Given the description of an element on the screen output the (x, y) to click on. 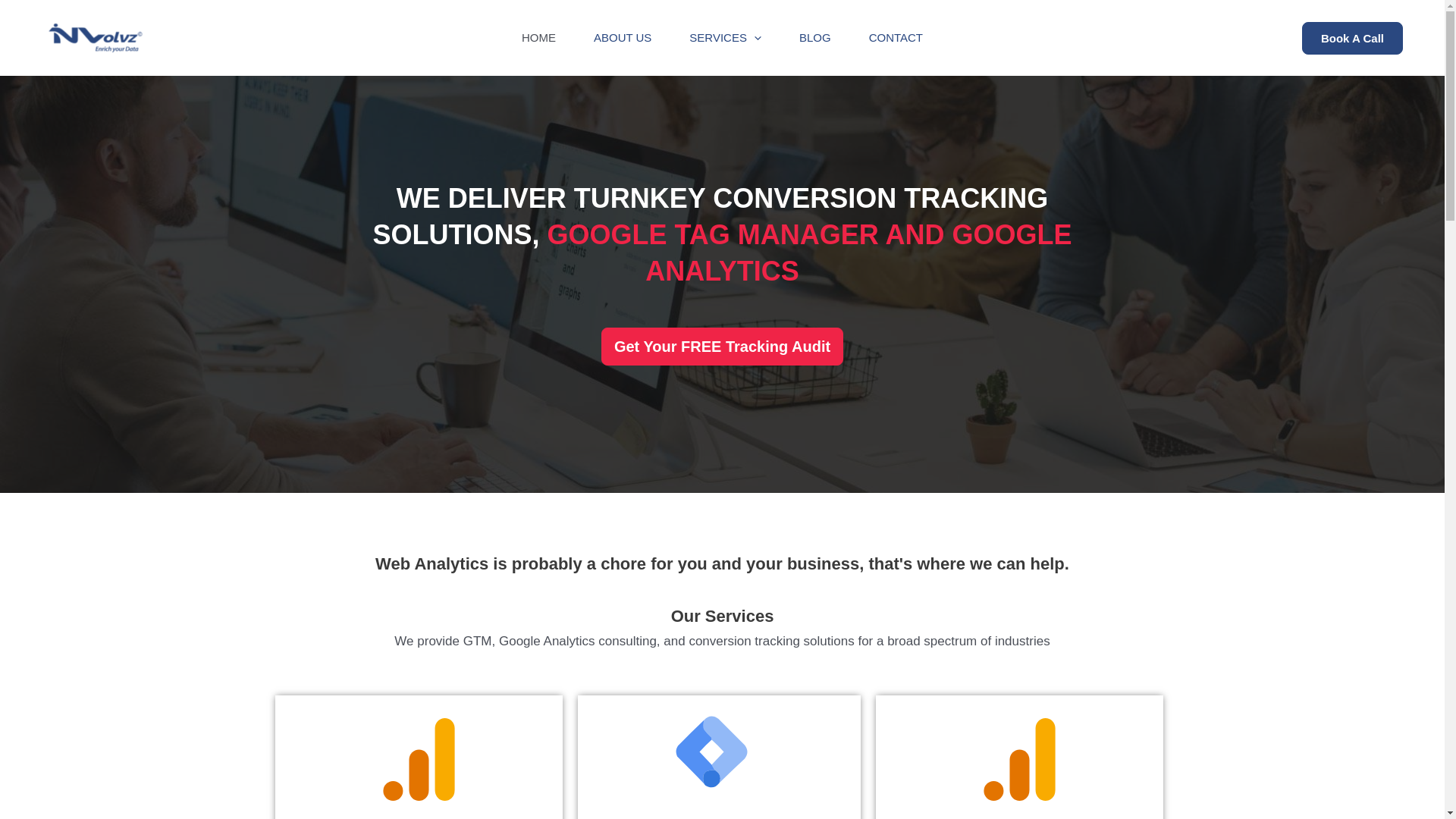
CONTACT (896, 38)
BLOG (815, 38)
Book A Call (1352, 37)
SERVICES (724, 38)
ABOUT US (622, 38)
HOME (538, 38)
Get Your FREE Tracking Audit (722, 346)
